Given the description of an element on the screen output the (x, y) to click on. 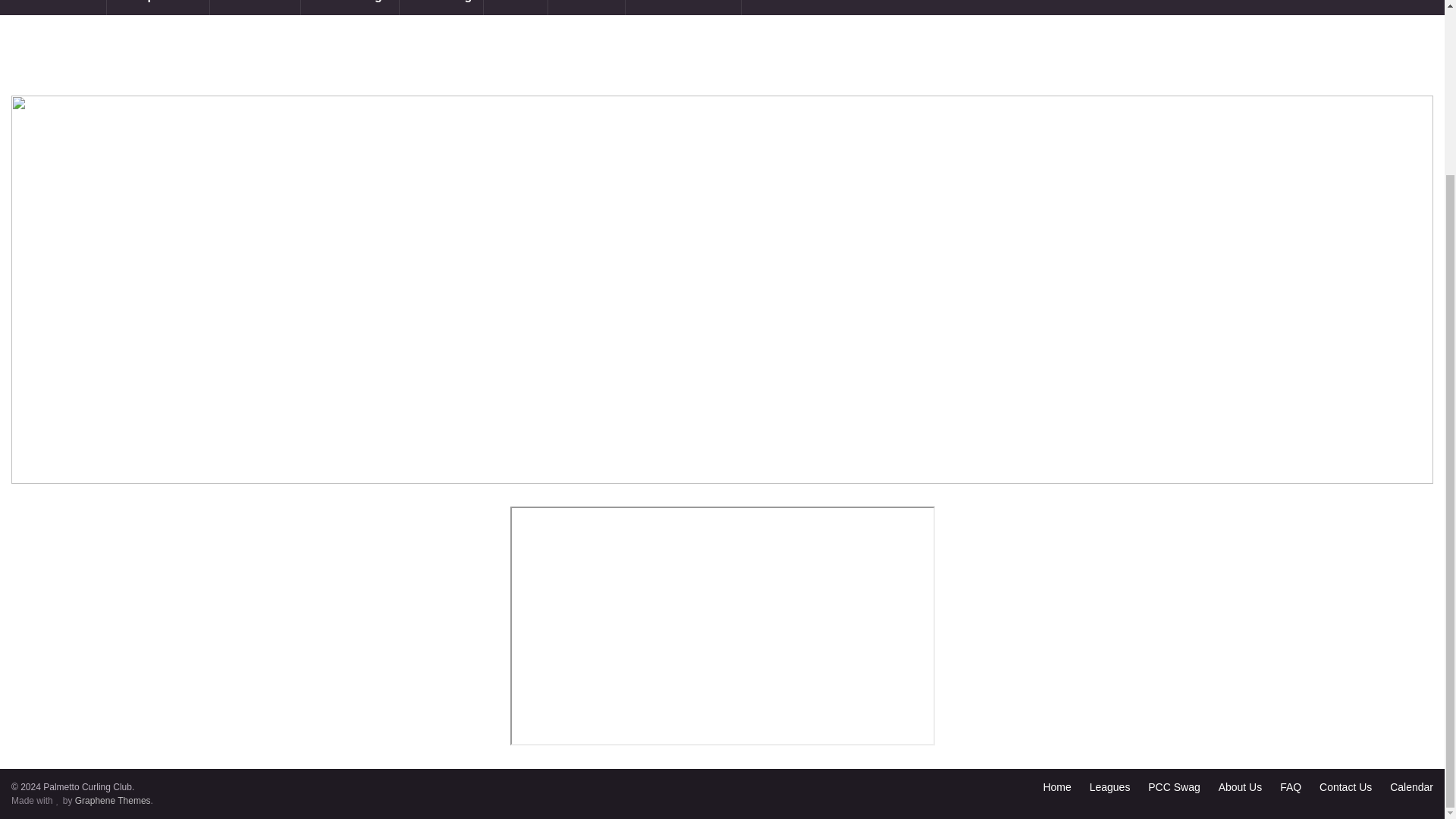
Leagues (1110, 787)
About Us (1240, 787)
Home (1056, 787)
Calendar (1411, 787)
PCC Swag (1173, 787)
Contact Us (1345, 787)
Fundraising (349, 7)
Club News (254, 7)
Group Events (157, 7)
FAQ (1290, 787)
